Given the description of an element on the screen output the (x, y) to click on. 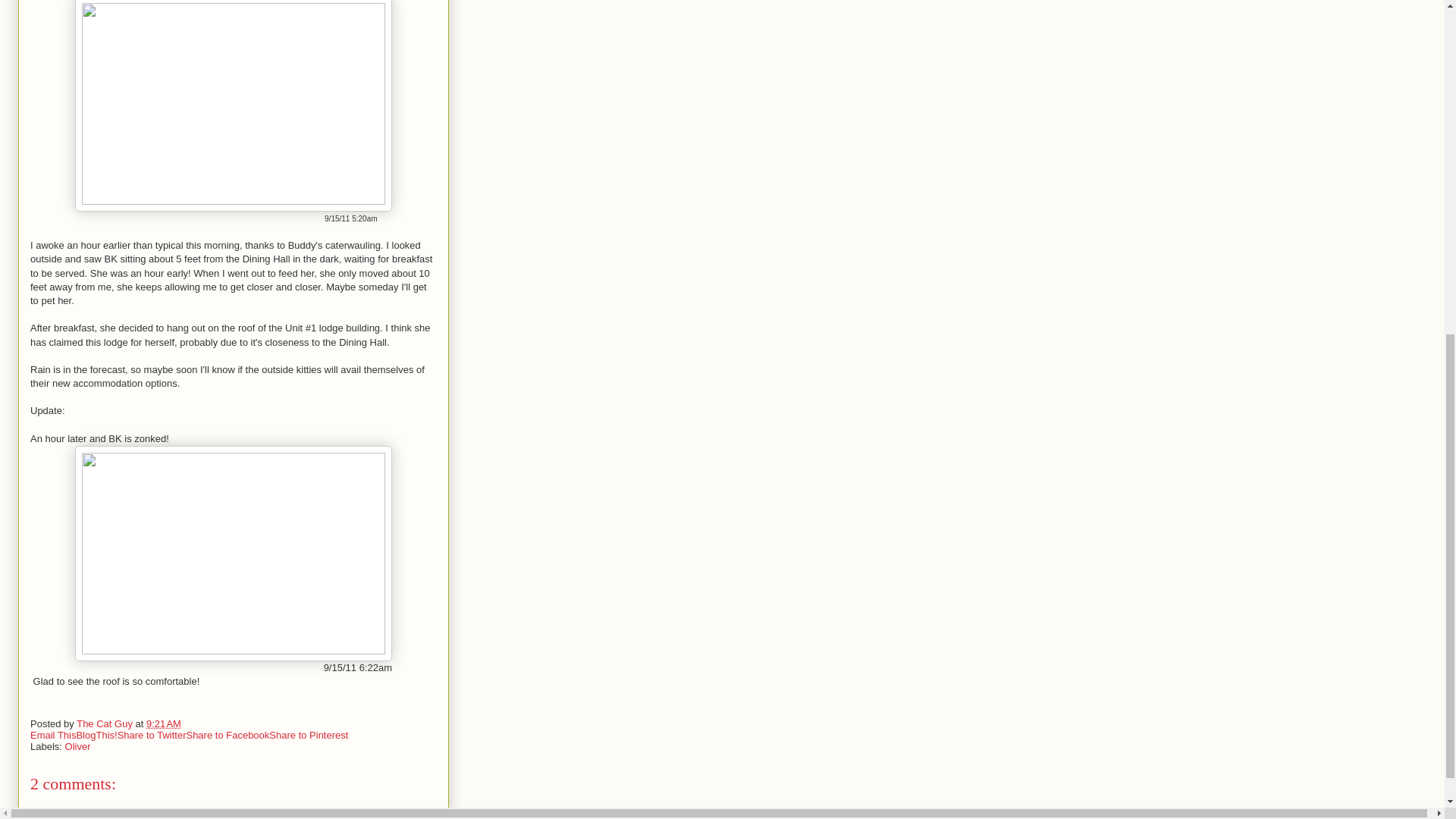
Oliver (77, 746)
Share to Facebook (227, 735)
Share to Pinterest (308, 735)
author profile (106, 723)
permanent link (163, 723)
Share to Twitter (151, 735)
Email This (52, 735)
BlogThis! (95, 735)
Share to Facebook (227, 735)
